Given the description of an element on the screen output the (x, y) to click on. 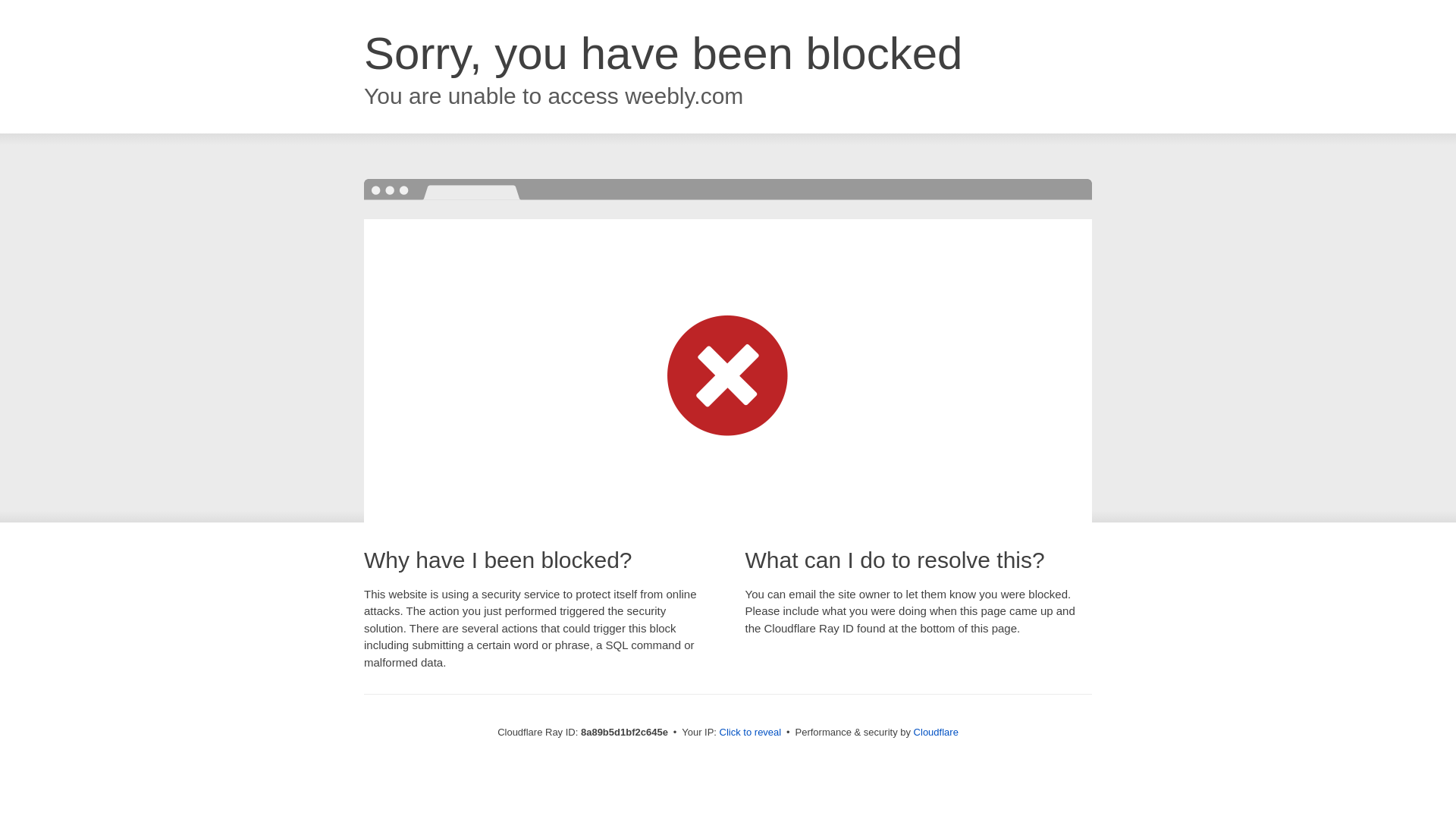
Click to reveal (750, 732)
Cloudflare (936, 731)
